Given the description of an element on the screen output the (x, y) to click on. 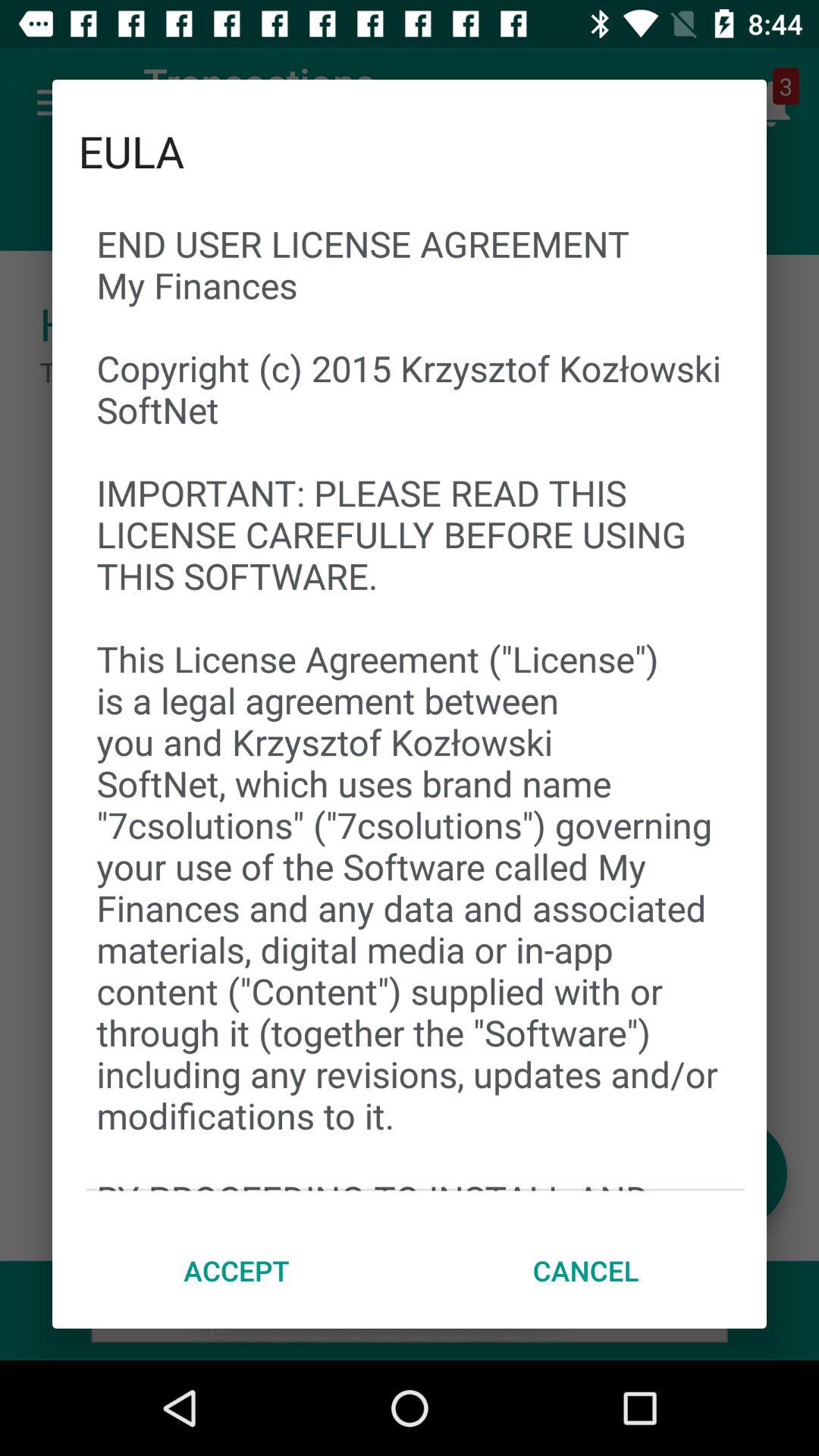
press the accept at the bottom left corner (236, 1270)
